Given the description of an element on the screen output the (x, y) to click on. 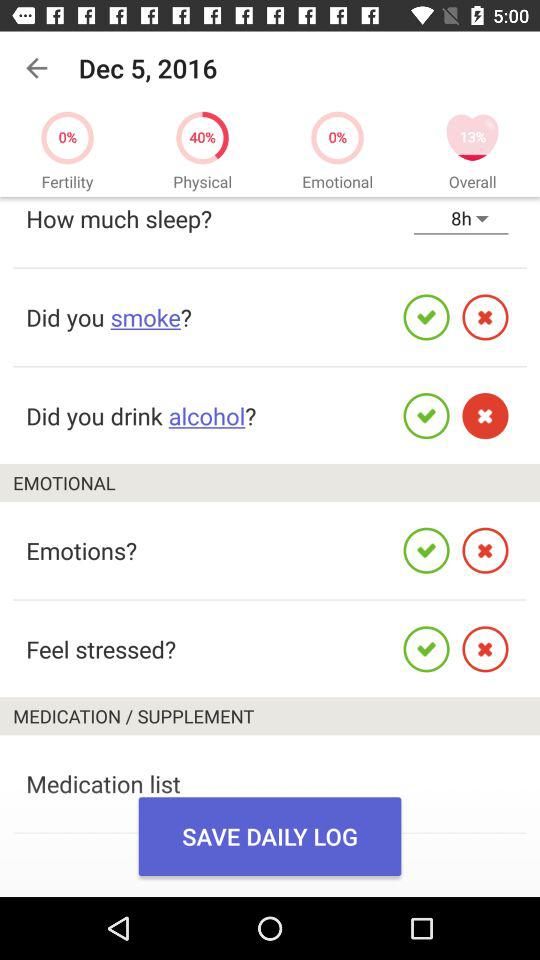
select a option did you smoke (108, 316)
